Given the description of an element on the screen output the (x, y) to click on. 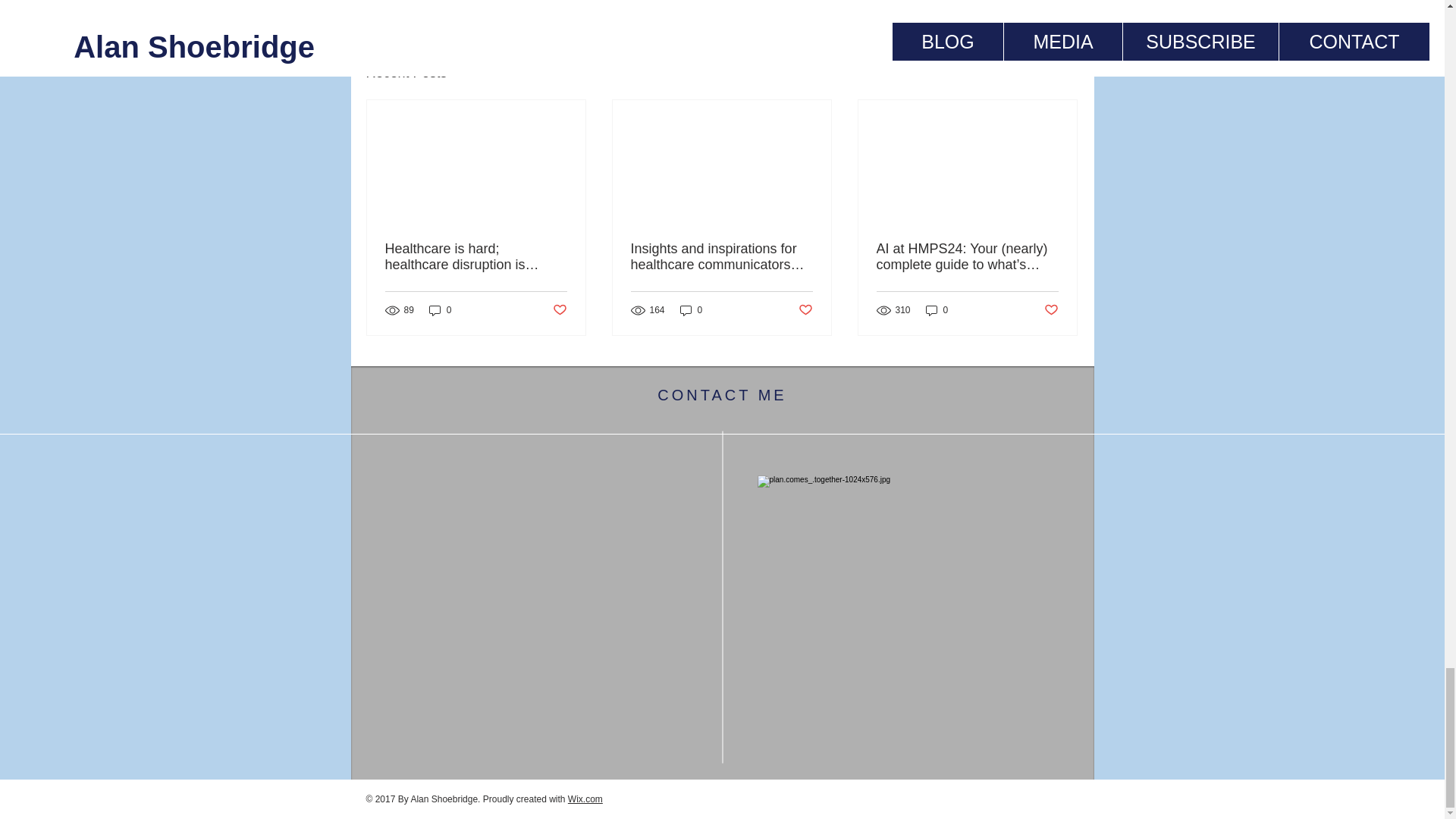
Post not marked as liked (1050, 309)
Wix.com (584, 798)
0 (691, 310)
Post not marked as liked (558, 309)
Post not marked as liked (804, 309)
0 (440, 310)
0 (937, 310)
See All (1061, 73)
